Given the description of an element on the screen output the (x, y) to click on. 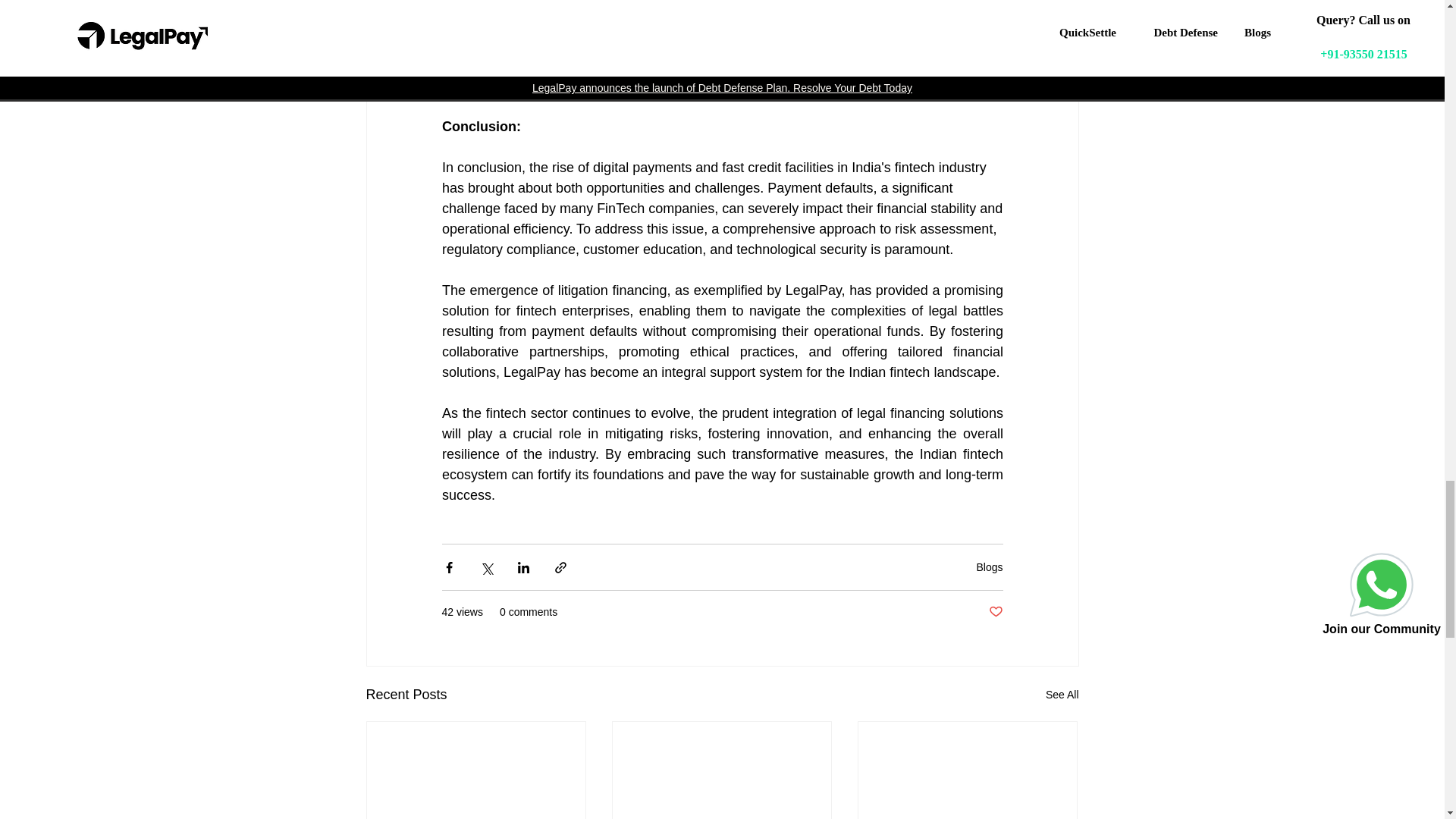
See All (1061, 694)
Post not marked as liked (995, 611)
Blogs (989, 567)
